Given the description of an element on the screen output the (x, y) to click on. 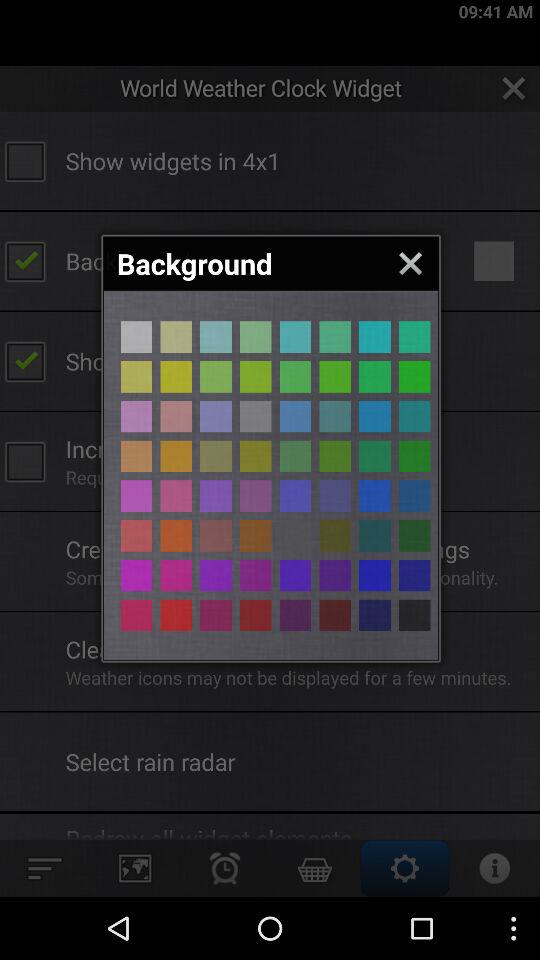
selects the highlighted color (176, 376)
